Given the description of an element on the screen output the (x, y) to click on. 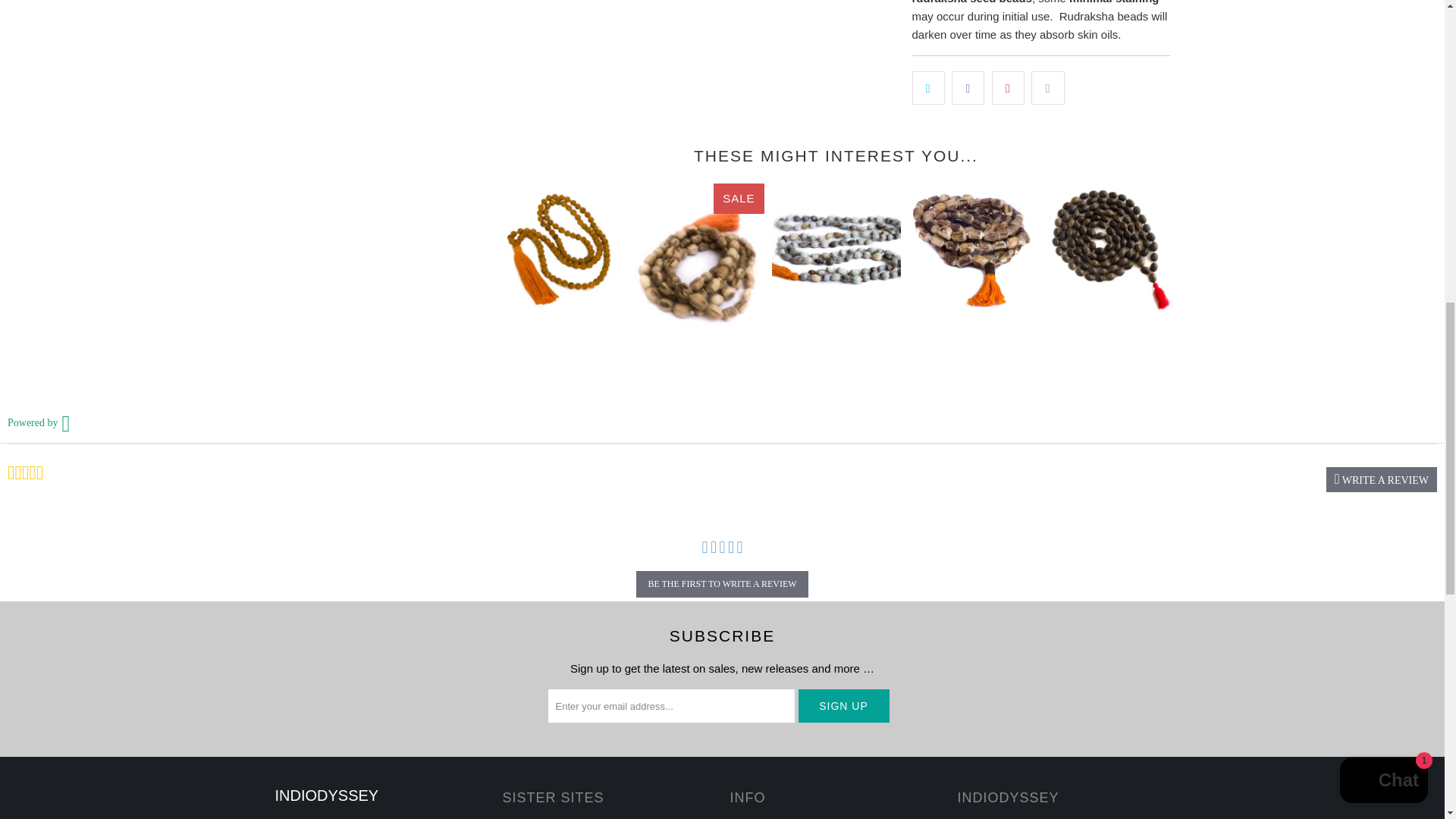
Sign Up (842, 705)
